Given the description of an element on the screen output the (x, y) to click on. 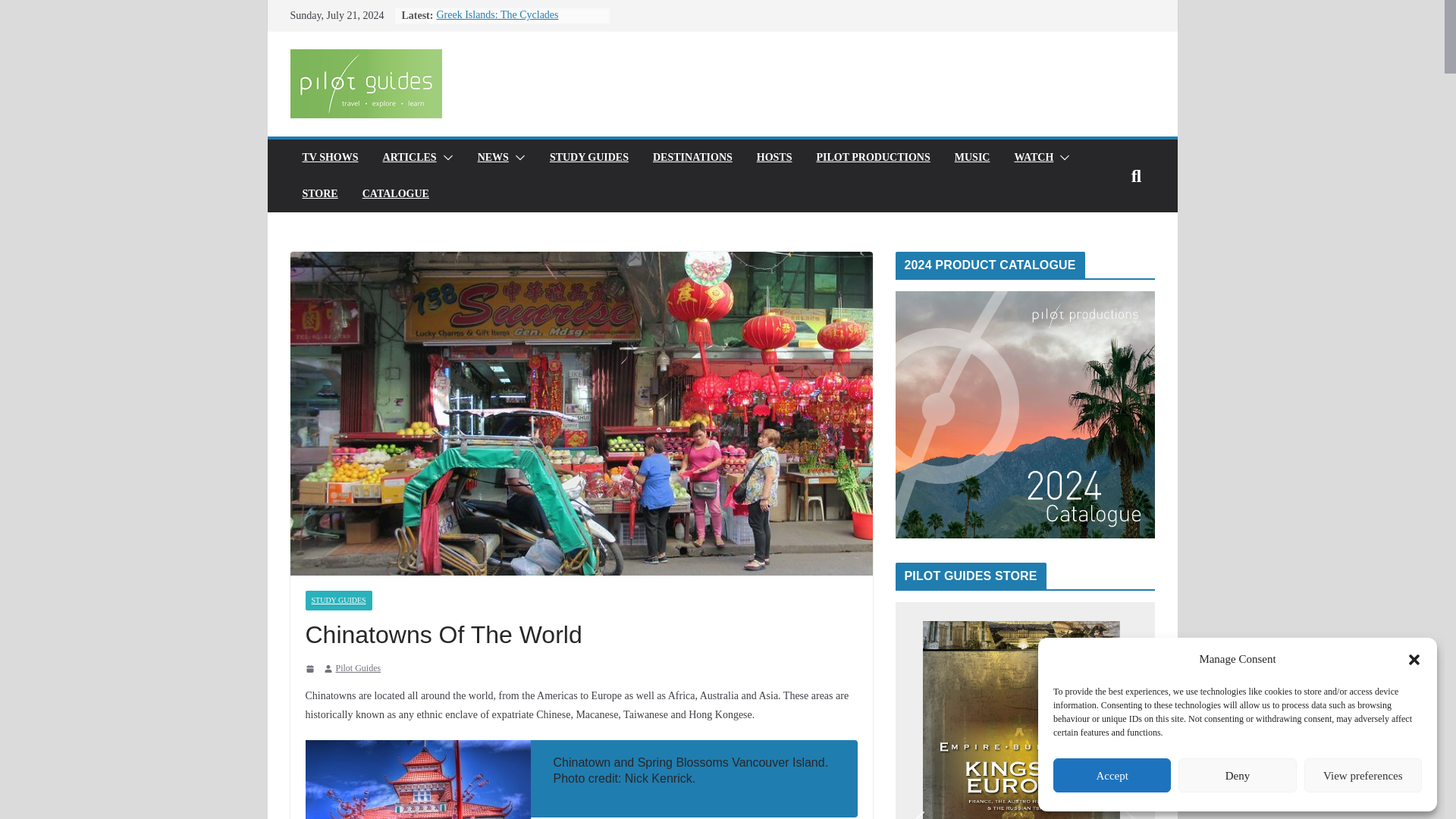
View preferences (1363, 775)
Greek Islands: The Cyclades (496, 14)
Deny (1236, 775)
ARTICLES (409, 157)
Accept (1111, 775)
TV SHOWS (329, 157)
Pilot Guides (357, 668)
Greek Islands: The Cyclades (496, 14)
